Given the description of an element on the screen output the (x, y) to click on. 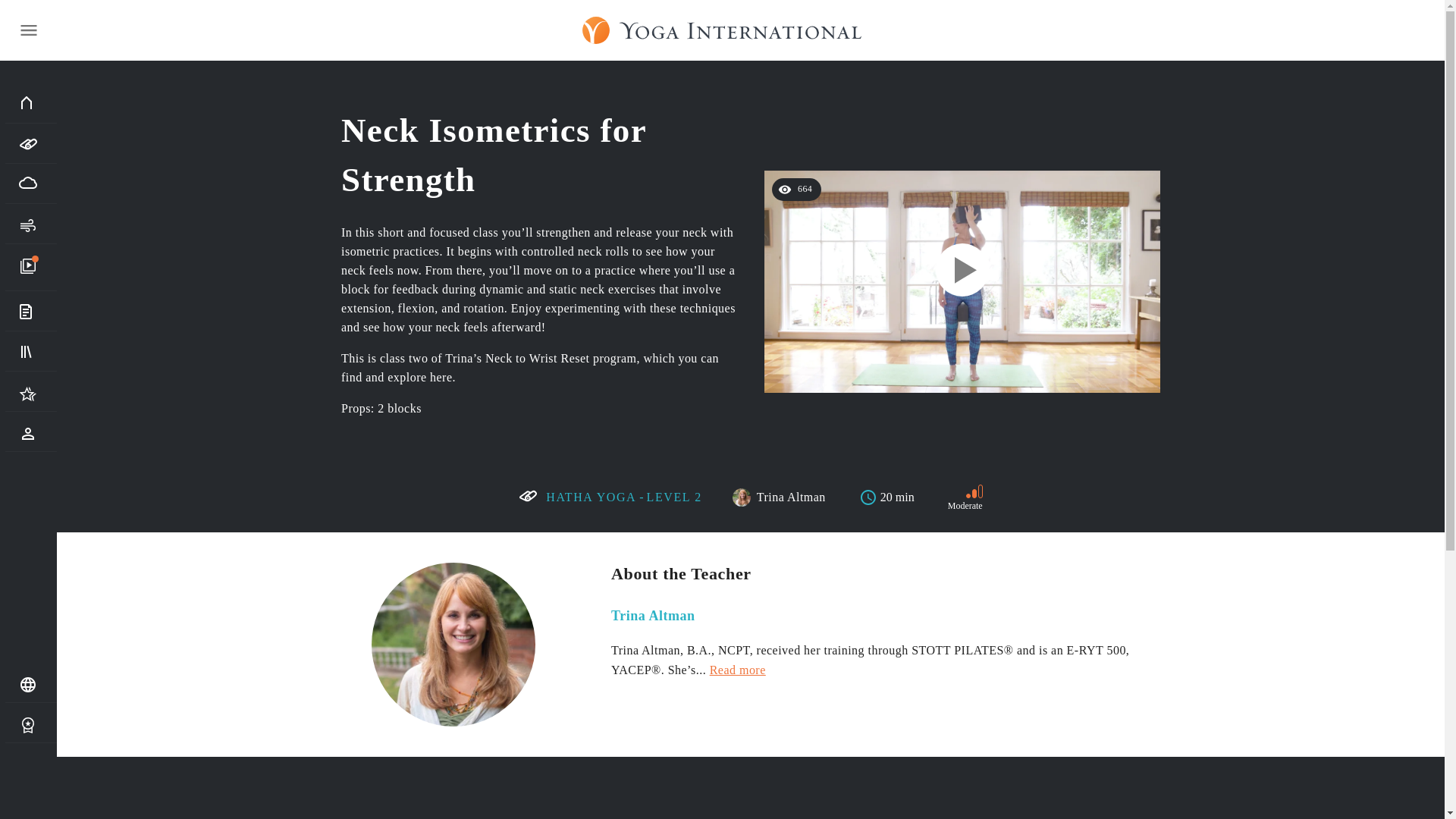
20 min (886, 497)
LEVEL 2 (673, 495)
Trina Altman (791, 496)
HATHA YOGA (591, 495)
Trina Altman (653, 615)
Read more (737, 669)
